Given the description of an element on the screen output the (x, y) to click on. 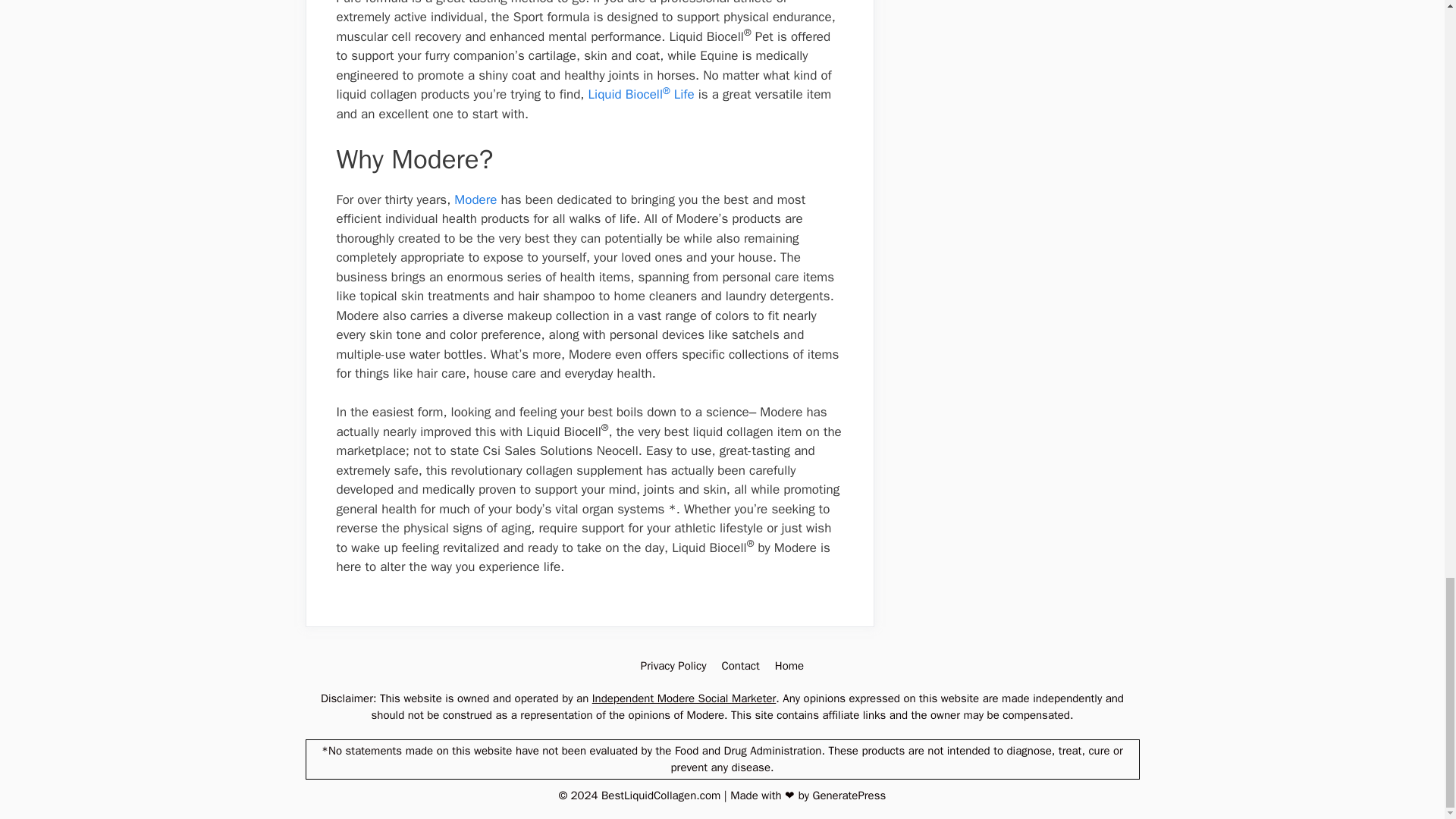
Home (788, 665)
Modere (475, 199)
Independent Modere Social Marketer (684, 698)
Contact (739, 665)
GeneratePress (849, 795)
Privacy Policy (673, 665)
